Given the description of an element on the screen output the (x, y) to click on. 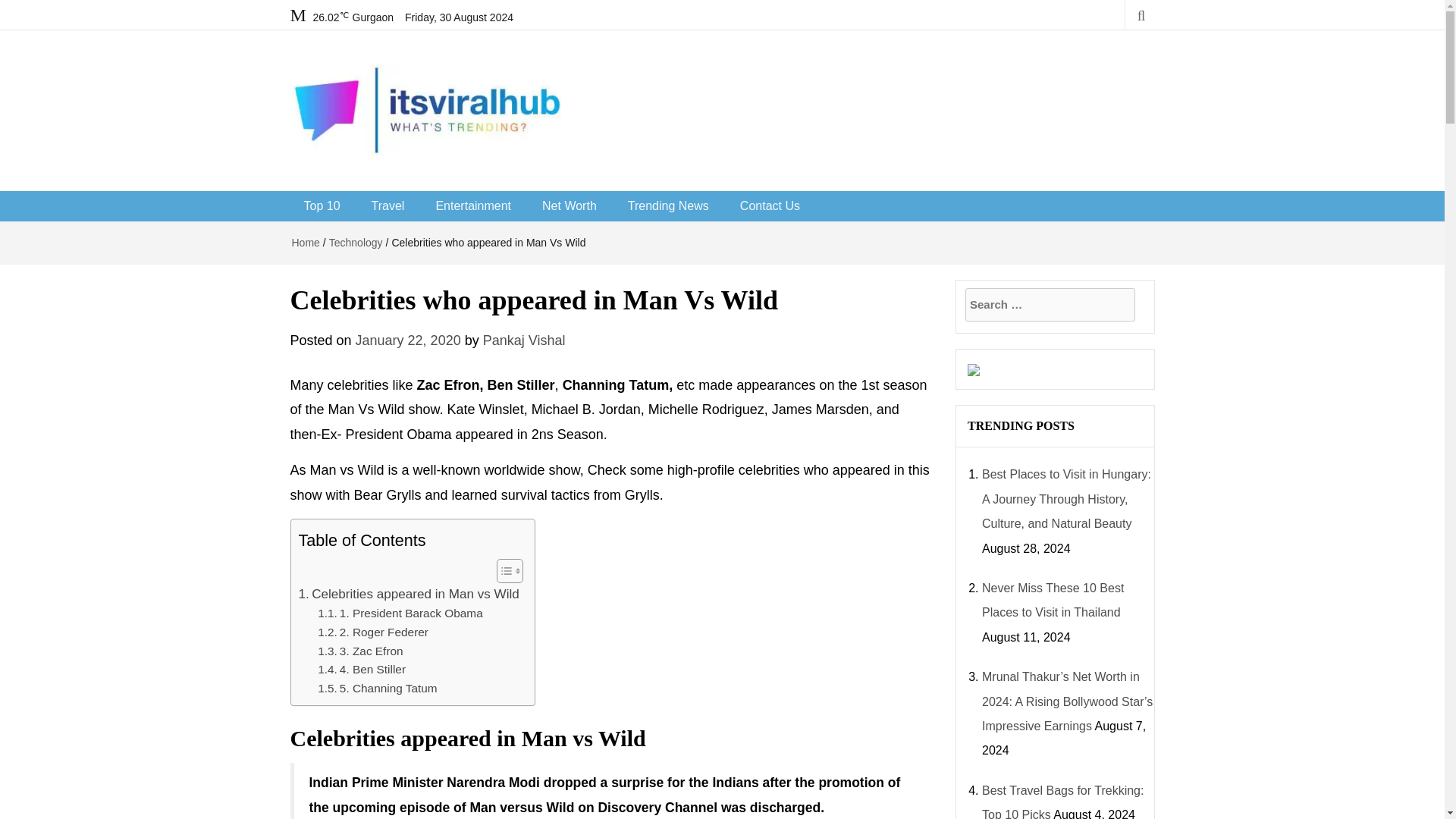
Search (15, 6)
Travel (388, 205)
January 22, 2020 (408, 340)
Celebrities appeared in Man vs Wild (408, 593)
Entertainment (473, 205)
4. Ben Stiller  (363, 669)
Technology (355, 242)
2. Roger Federer (372, 632)
Home (304, 242)
Pankaj Vishal (524, 340)
